Given the description of an element on the screen output the (x, y) to click on. 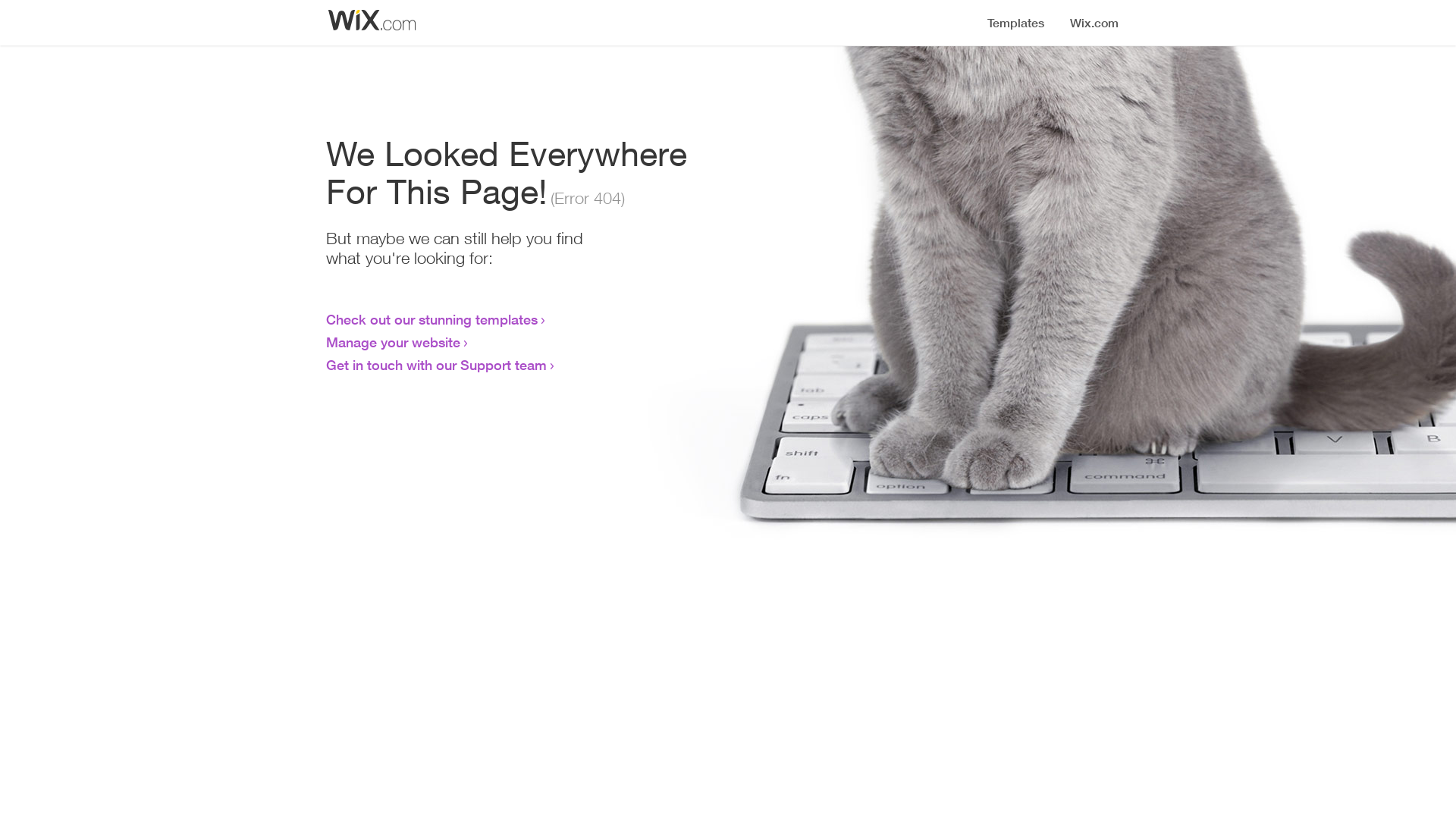
Check out our stunning templates Element type: text (431, 318)
Get in touch with our Support team Element type: text (436, 364)
Manage your website Element type: text (393, 341)
